Given the description of an element on the screen output the (x, y) to click on. 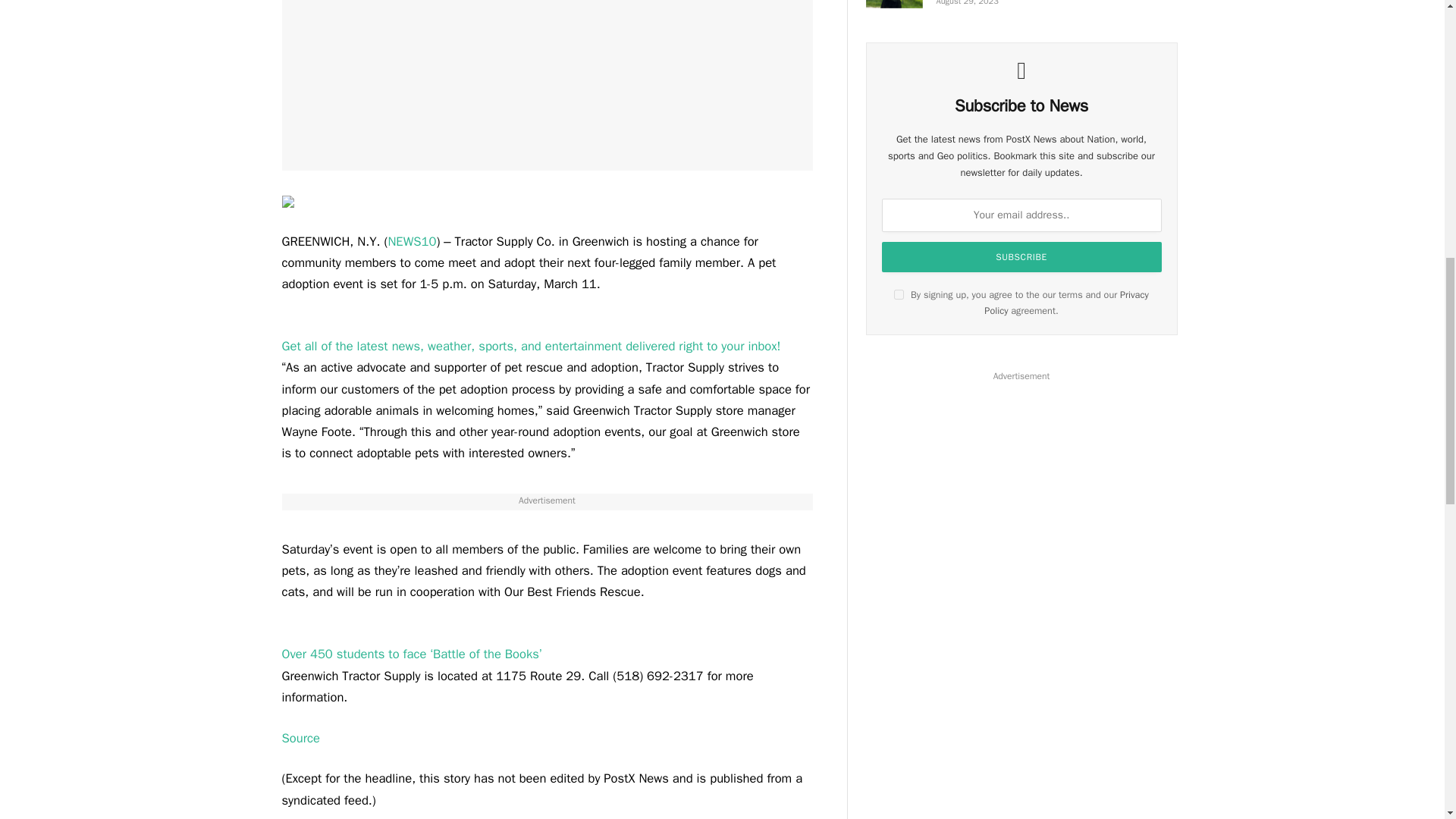
on (898, 294)
Subscribe (1021, 256)
